Given the description of an element on the screen output the (x, y) to click on. 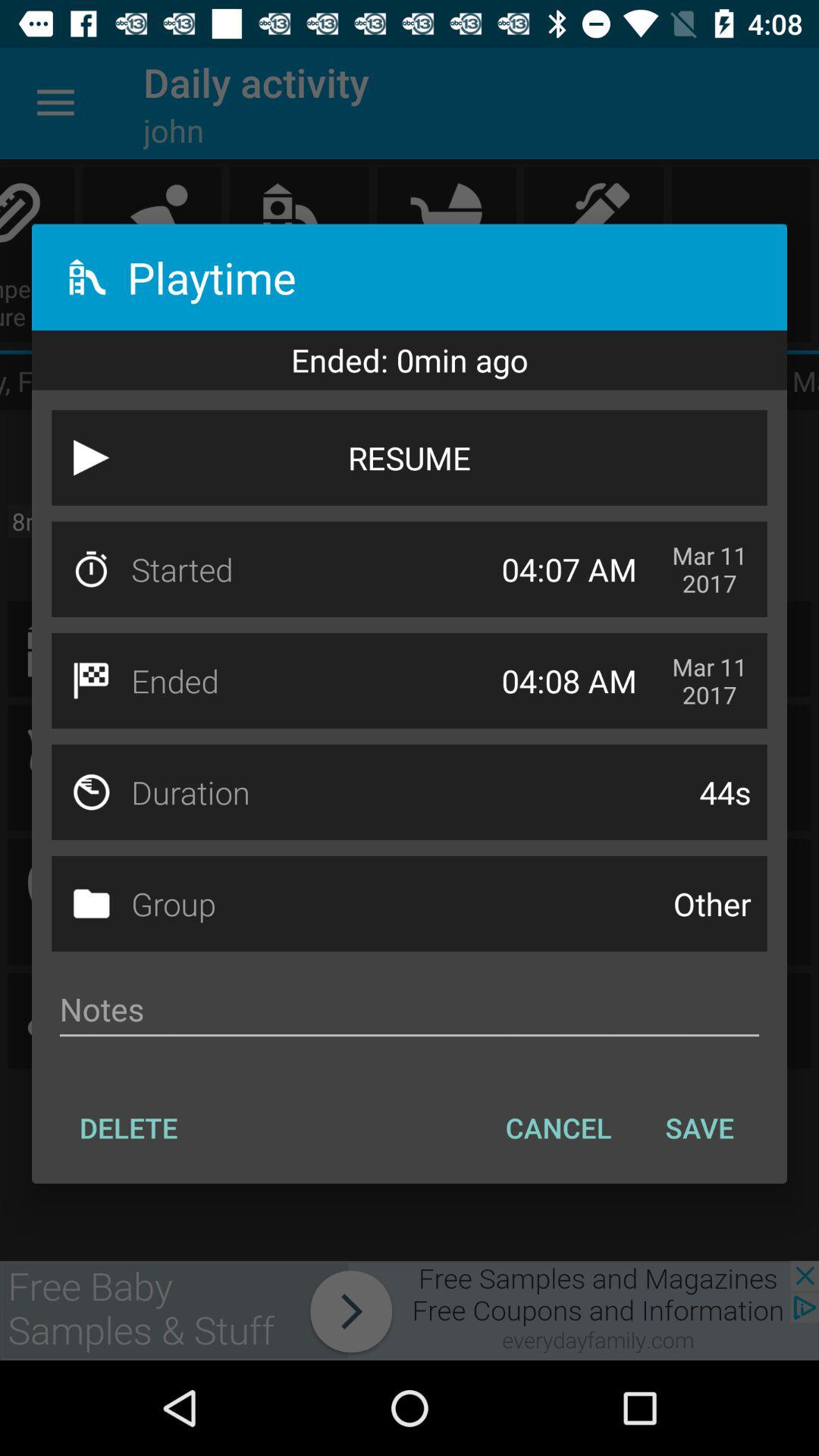
enter note field (409, 1009)
